Given the description of an element on the screen output the (x, y) to click on. 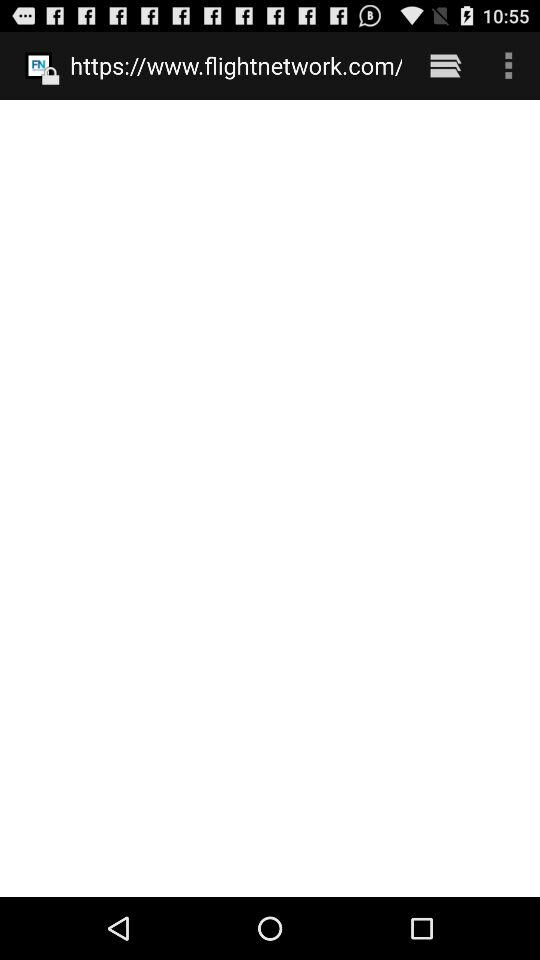
press the icon at the center (270, 497)
